Given the description of an element on the screen output the (x, y) to click on. 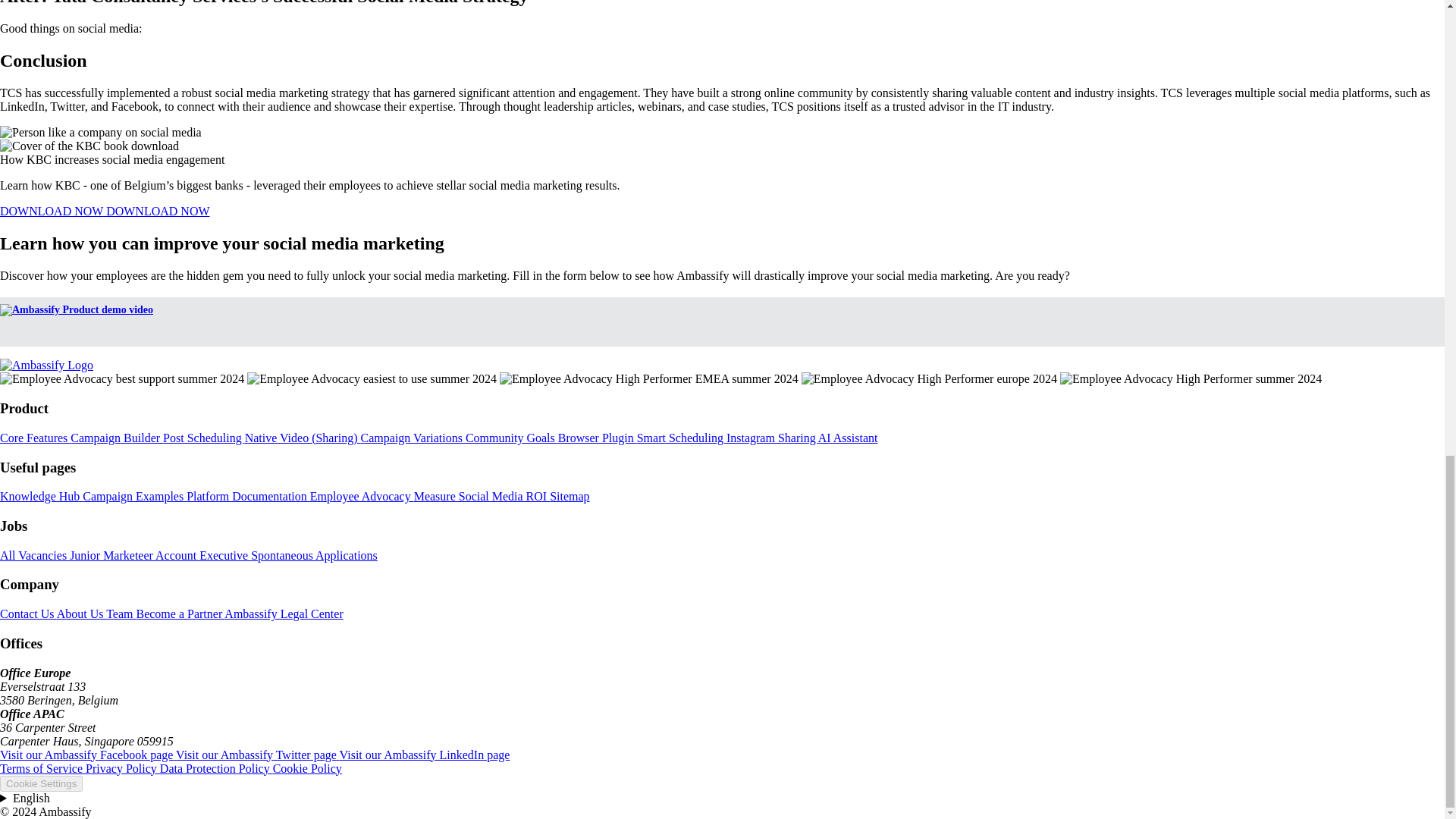
Visit our Ambassify Twitter page (257, 754)
Visit our Ambassify LinkedIn page (425, 754)
Visit our Ambassify Facebook page (88, 754)
